Given the description of an element on the screen output the (x, y) to click on. 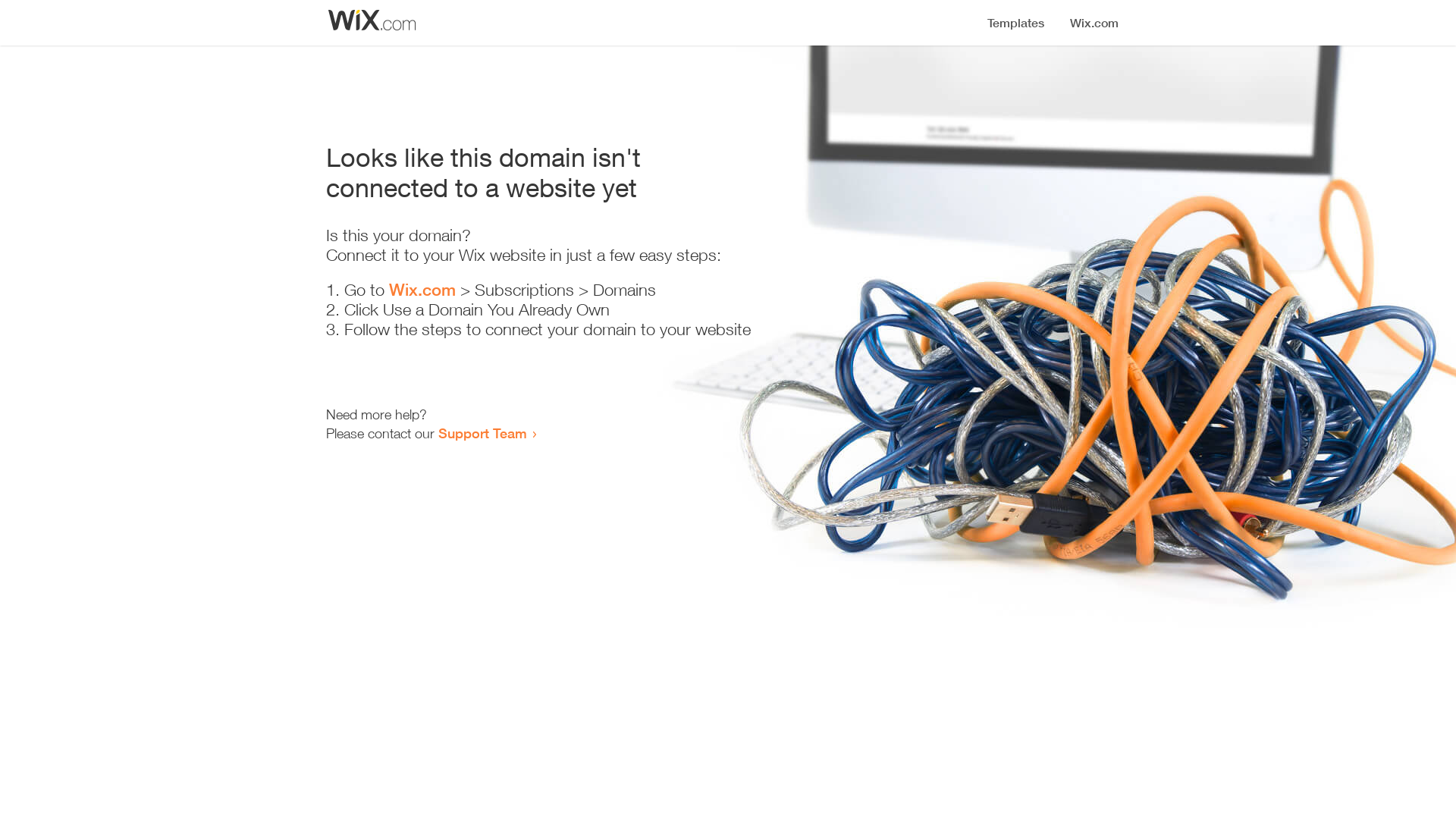
Support Team Element type: text (482, 432)
Wix.com Element type: text (422, 289)
